Given the description of an element on the screen output the (x, y) to click on. 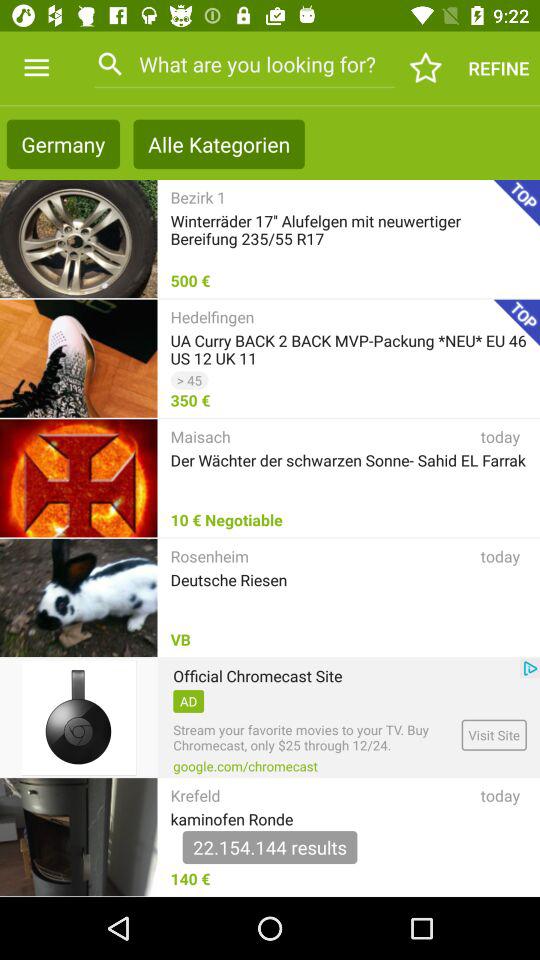
choose item to the left of the visit site (313, 737)
